Given the description of an element on the screen output the (x, y) to click on. 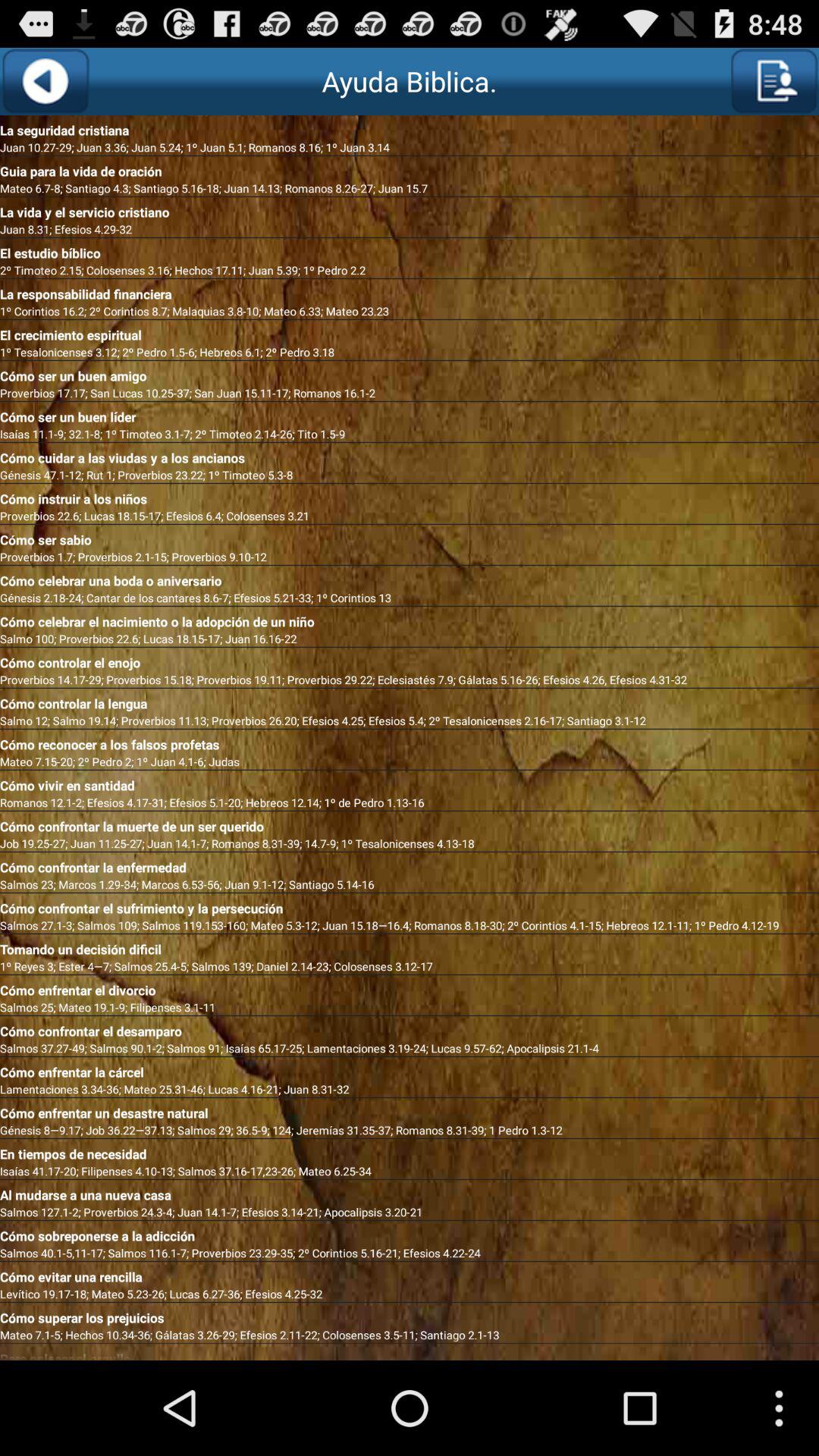
open app below the salmos 127 1 item (409, 1232)
